Given the description of an element on the screen output the (x, y) to click on. 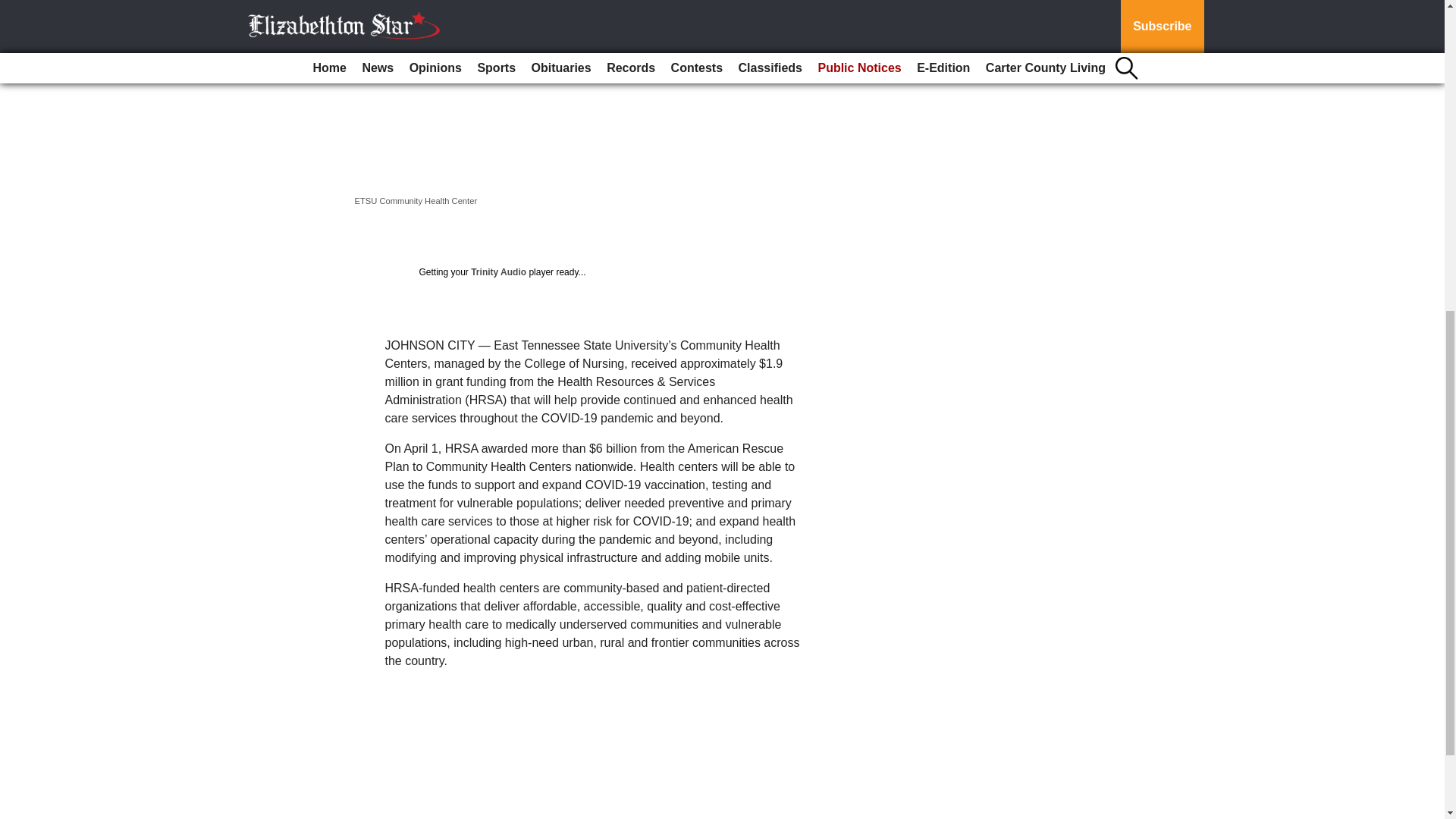
Trinity Audio (497, 271)
